Given the description of an element on the screen output the (x, y) to click on. 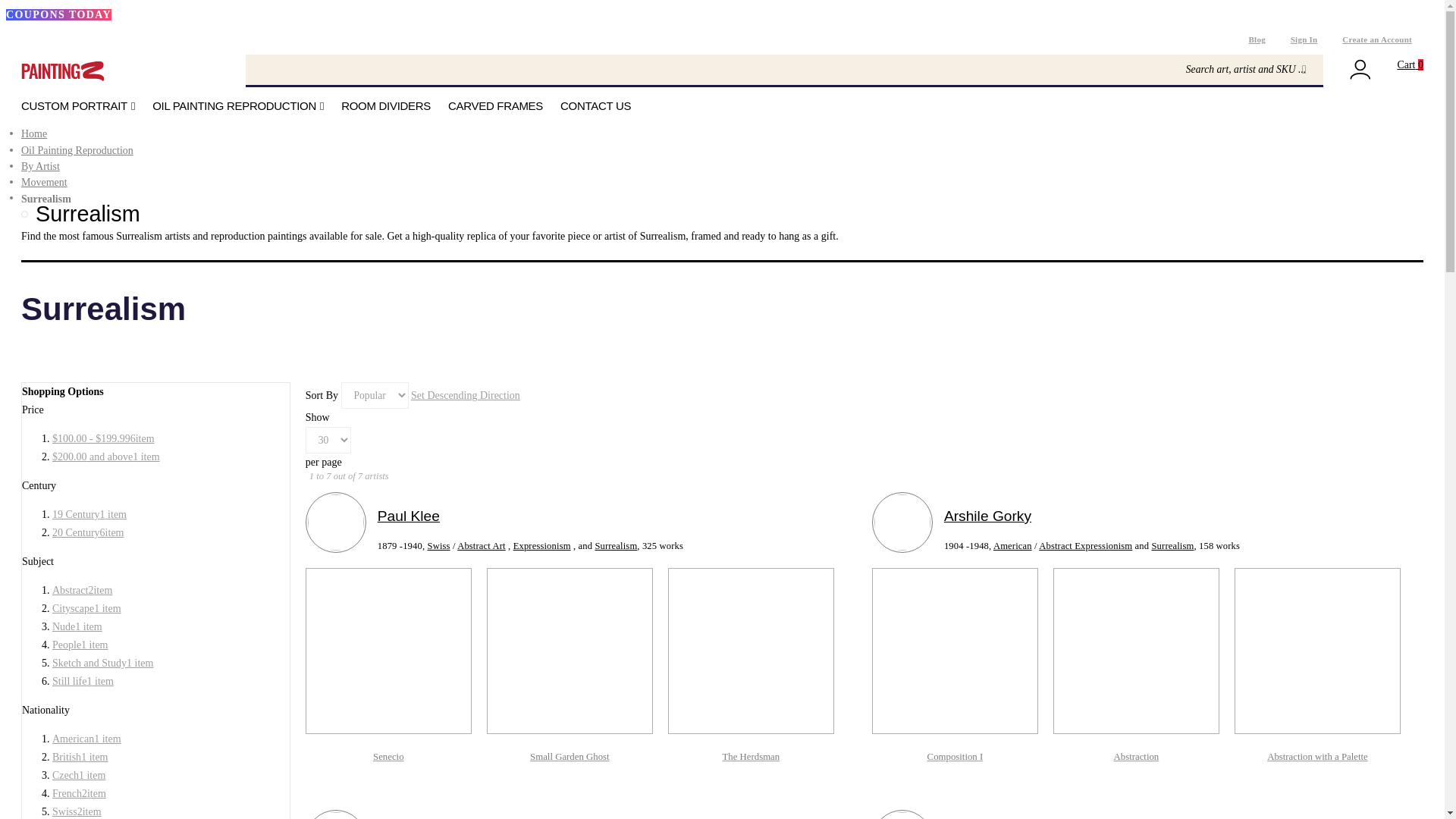
Custom Portrait (78, 105)
My Account (1359, 70)
Cart 0 (1409, 64)
Create an Account (1376, 39)
Search (1304, 69)
Sign In (1304, 39)
Carved Frames (495, 105)
Set Descending Direction (464, 395)
CUSTOM PORTRAIT (78, 105)
COUPONS TODAY (58, 14)
Oil Painting Reproduction (237, 105)
OIL PAINTING REPRODUCTION (237, 105)
Blog (1256, 39)
Contact Us (595, 105)
Go to Home Page (33, 133)
